Given the description of an element on the screen output the (x, y) to click on. 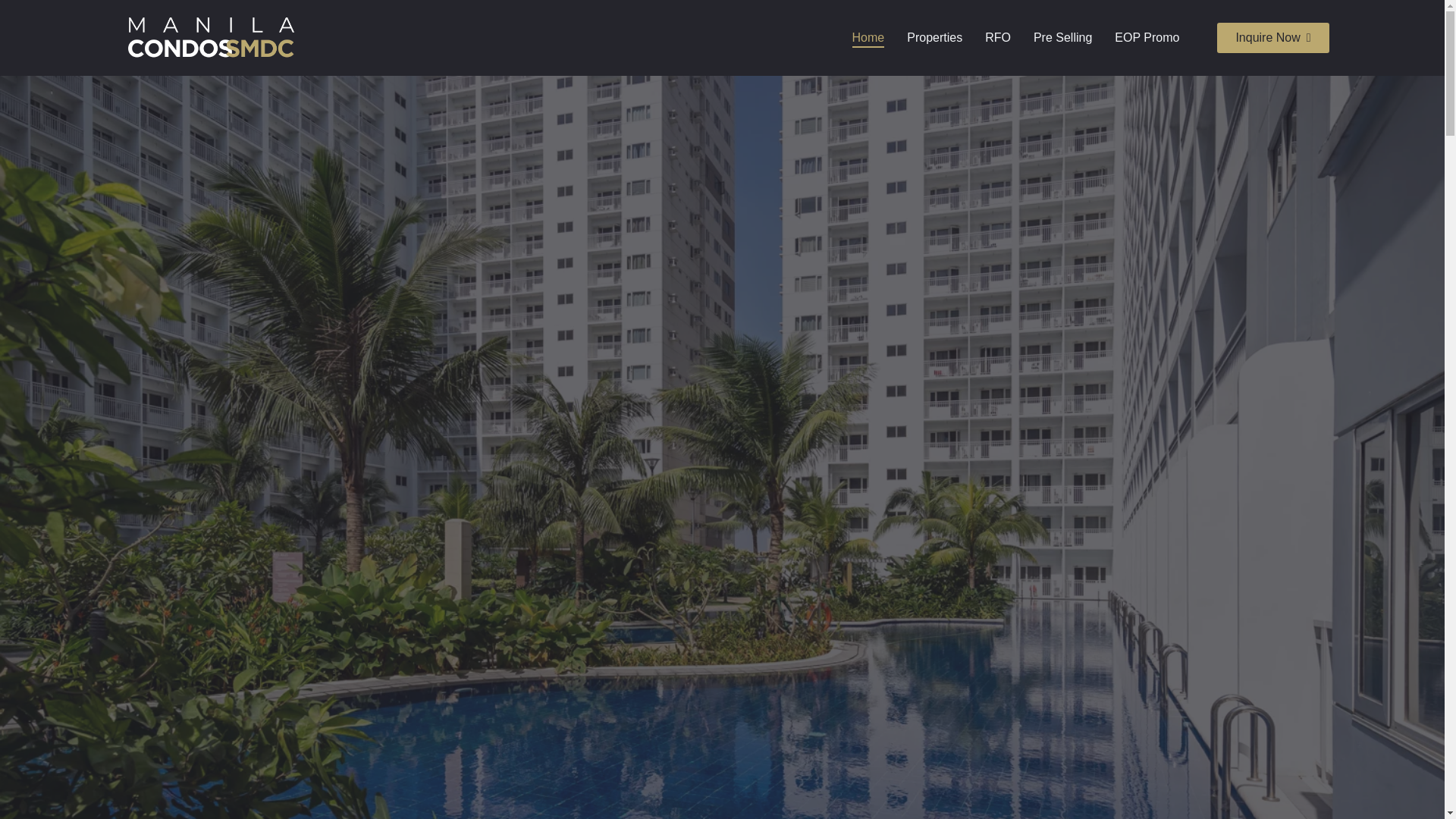
Inquire Now (1272, 37)
RFO (997, 37)
Properties (934, 37)
Pre Selling (1062, 37)
Home (868, 37)
EOP Promo (1147, 37)
